Given the description of an element on the screen output the (x, y) to click on. 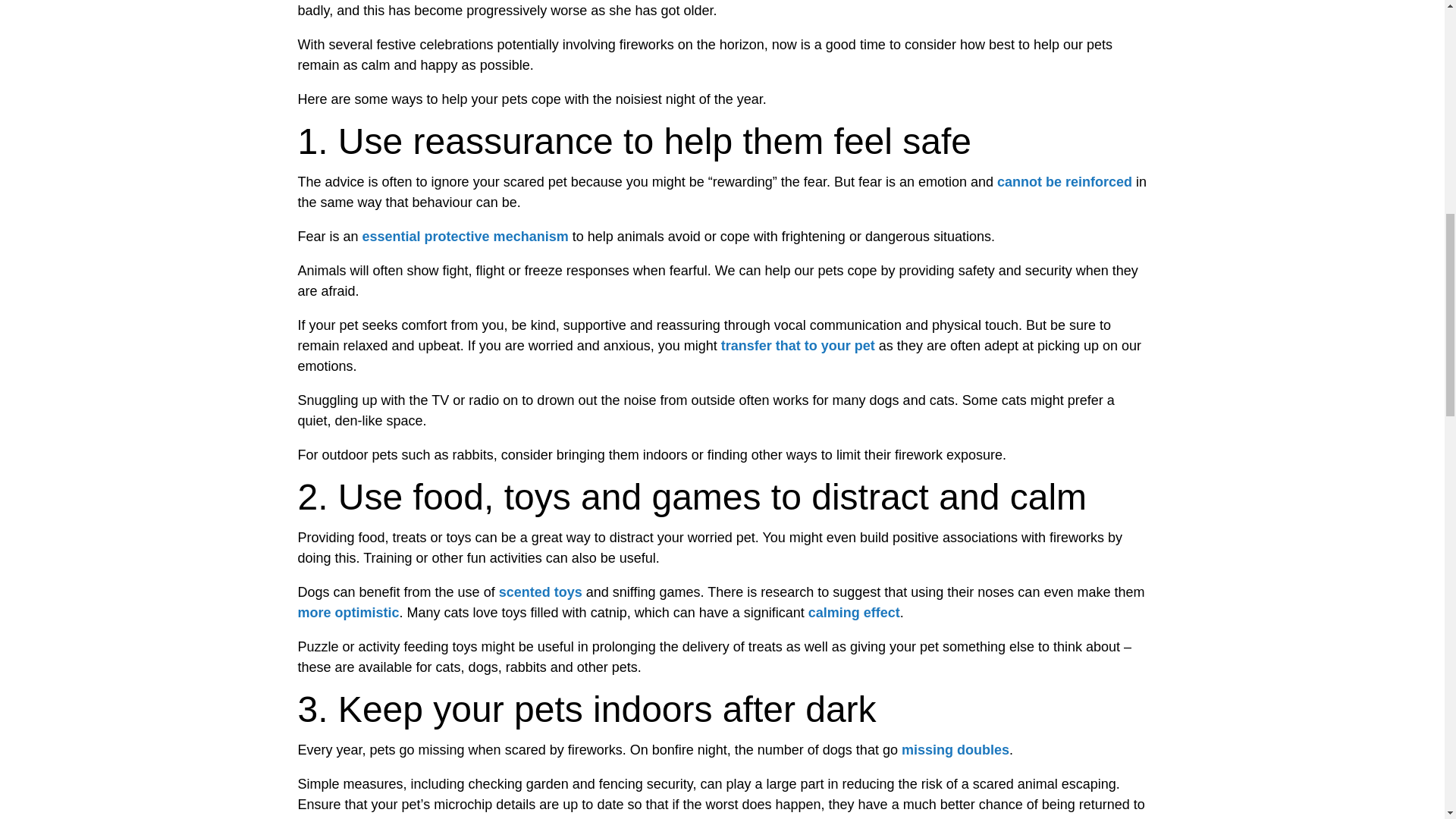
essential protective mechanism (465, 236)
cannot be reinforced (1064, 181)
